Given the description of an element on the screen output the (x, y) to click on. 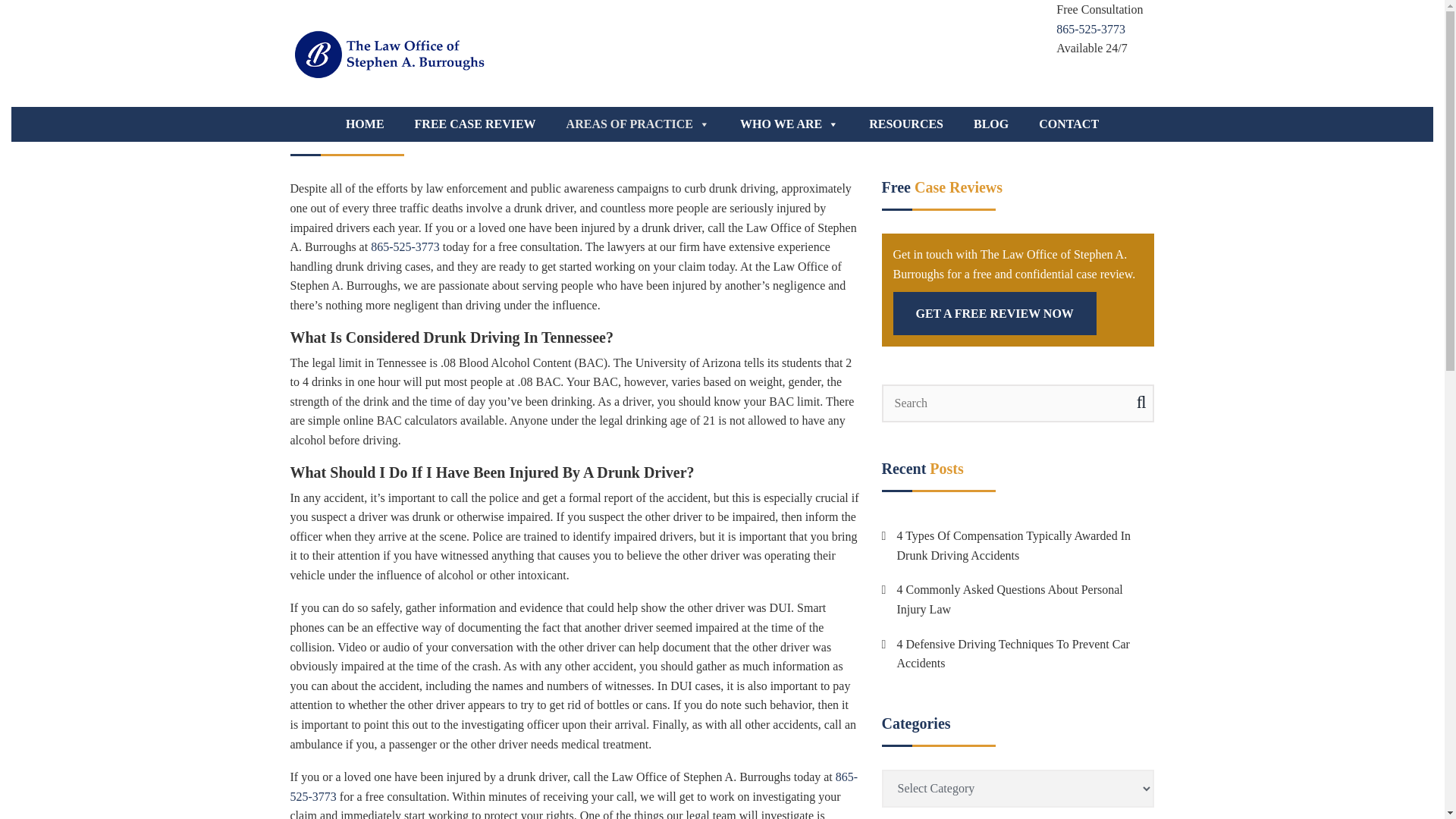
CONTACT (1068, 124)
RESOURCES (905, 124)
BLOG (990, 124)
HOME (364, 124)
WHO WE ARE (789, 124)
AREAS OF PRACTICE (638, 124)
865-525-3773 (1091, 29)
FREE CASE REVIEW (474, 124)
